Given the description of an element on the screen output the (x, y) to click on. 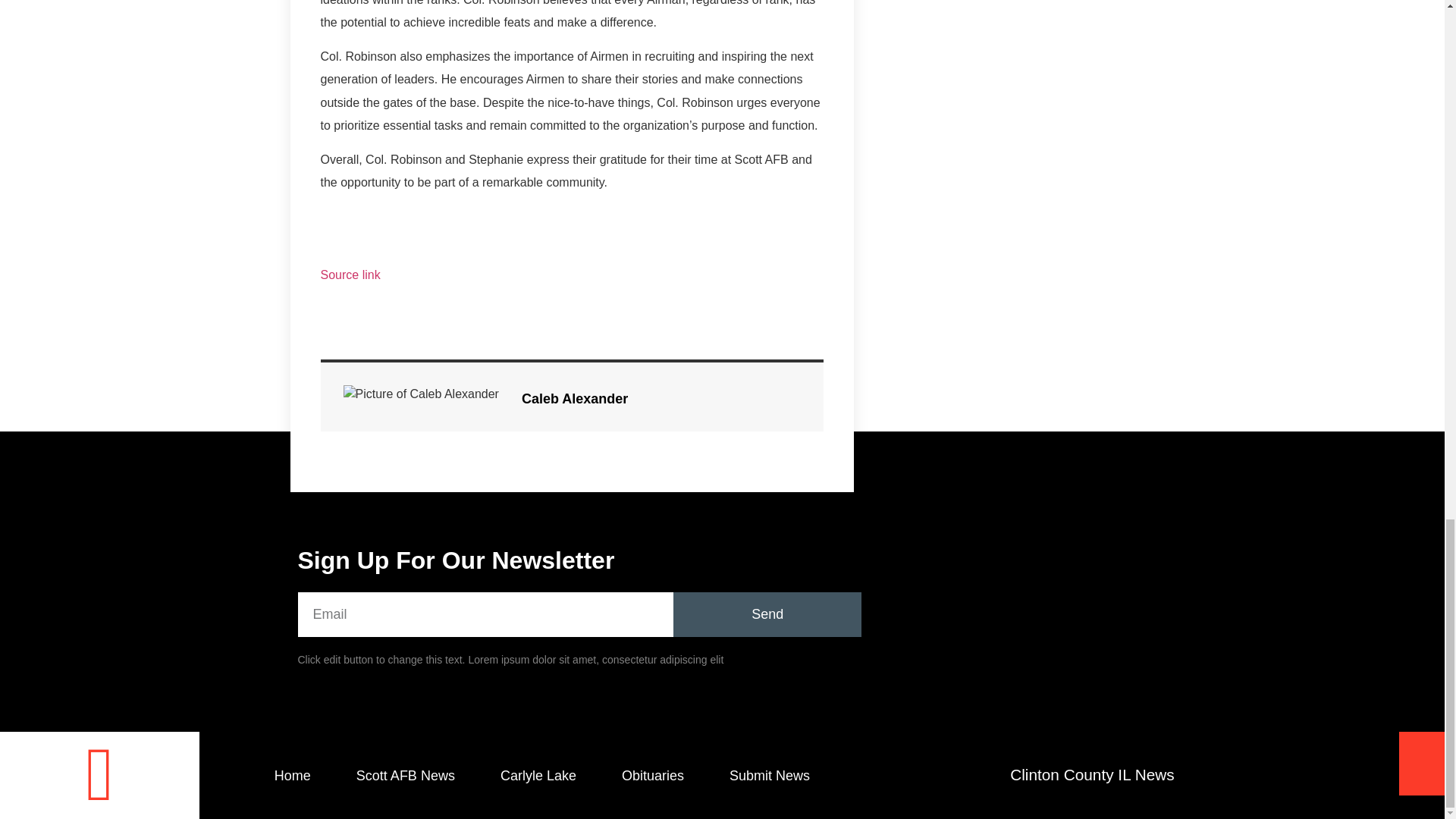
Home (292, 775)
Scott AFB News (405, 775)
Obituaries (652, 775)
Source link (350, 274)
Submit News (769, 775)
Send (766, 614)
Carlyle Lake (537, 775)
